Given the description of an element on the screen output the (x, y) to click on. 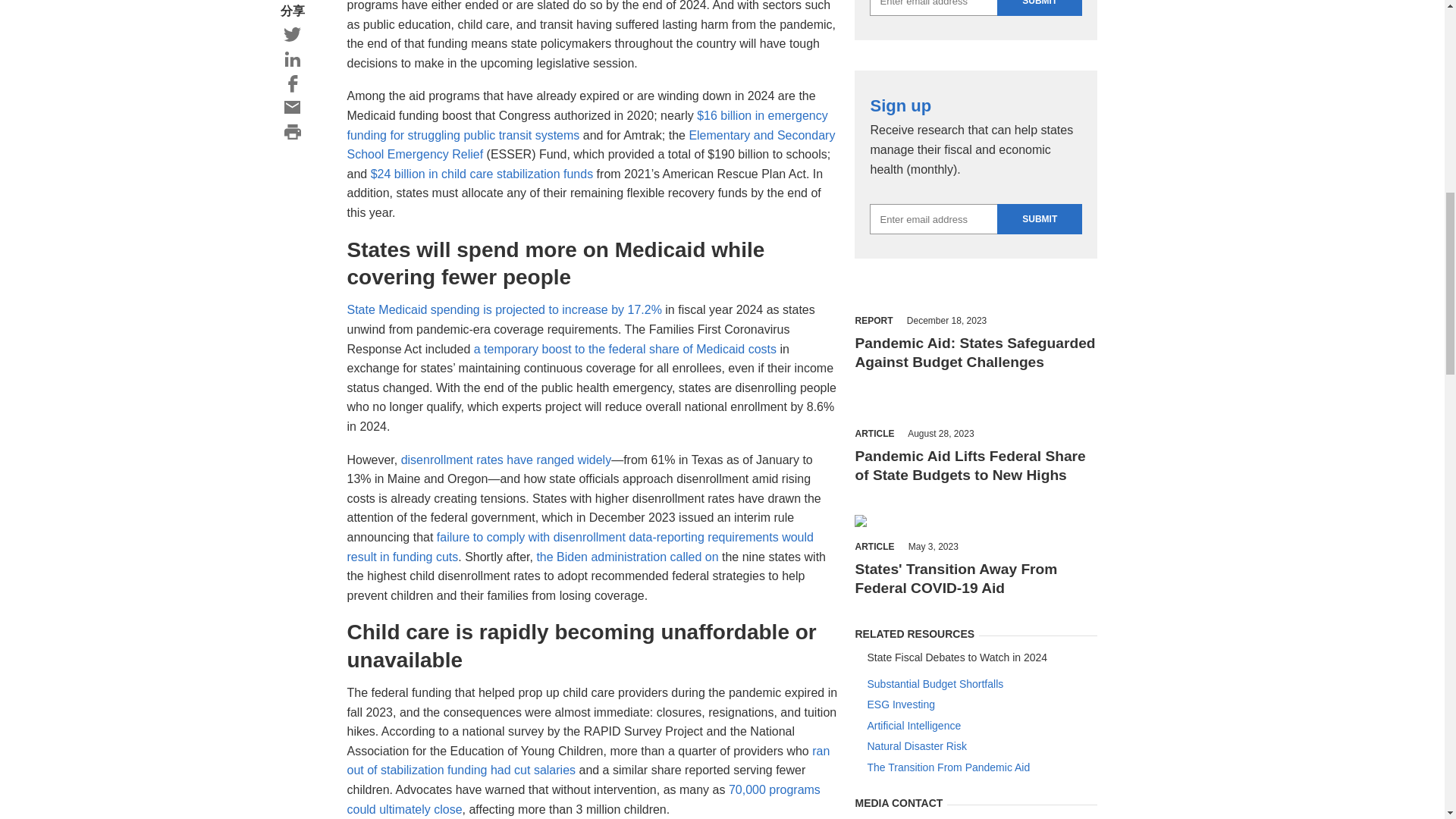
Submit (1039, 218)
Natural Disaster Risk (981, 746)
The Transition From Pandemic Aid (981, 767)
Artificial Intelligence (981, 725)
ESG Investing (981, 704)
Substantial Budget Shortfalls (981, 684)
Submit (1039, 7)
